Given the description of an element on the screen output the (x, y) to click on. 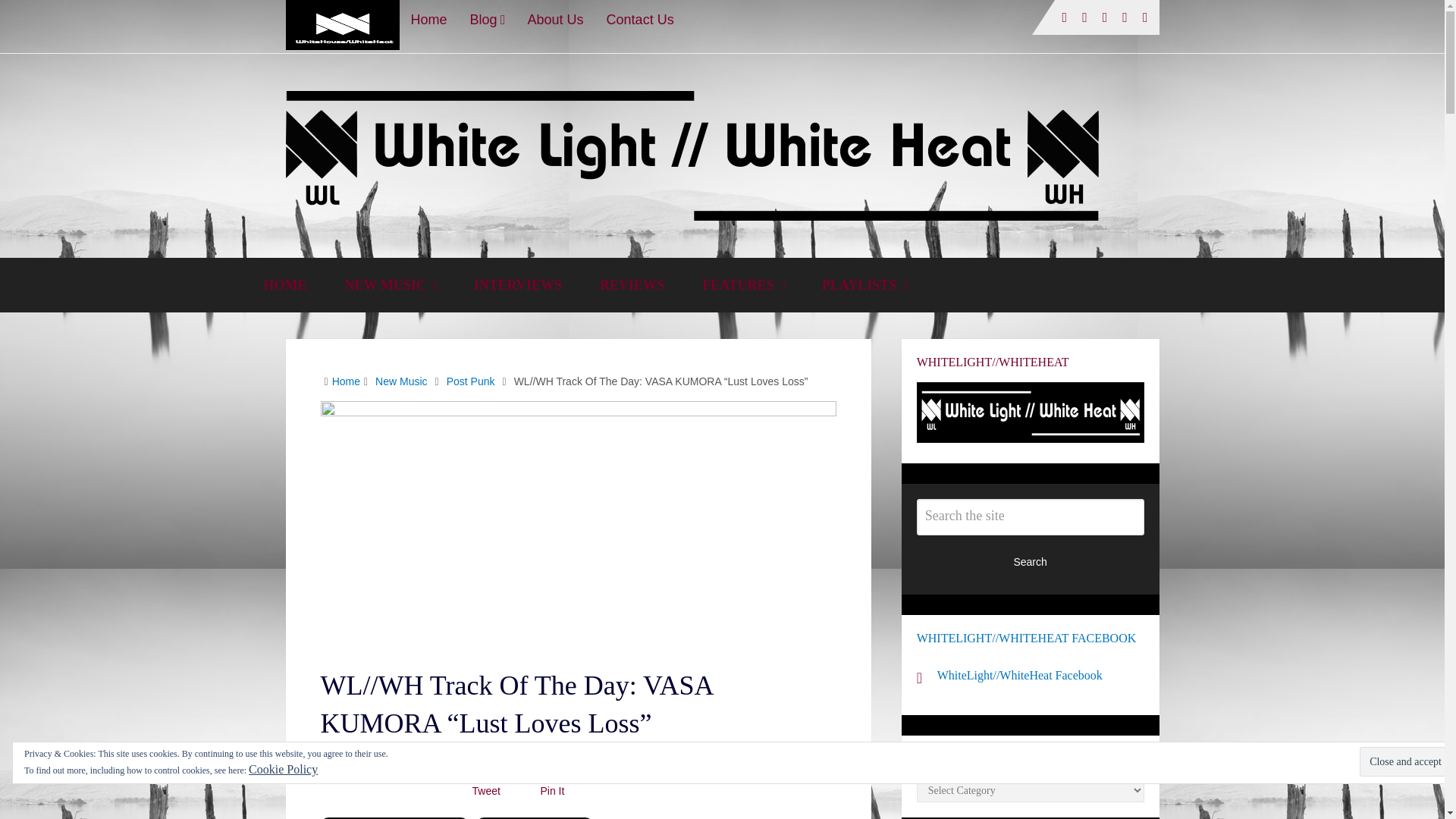
About Us (555, 19)
View all posts in Features (535, 759)
Home (428, 19)
View all posts in Post Punk (645, 759)
FEATURES (742, 284)
INTERVIEWS (517, 284)
REVIEWS (631, 284)
HOME (284, 284)
Posts by Fabrizio Lusso (361, 759)
Contact Us (640, 19)
View all posts in New Music (588, 759)
NEW MUSIC (390, 284)
Blog (487, 19)
